Given the description of an element on the screen output the (x, y) to click on. 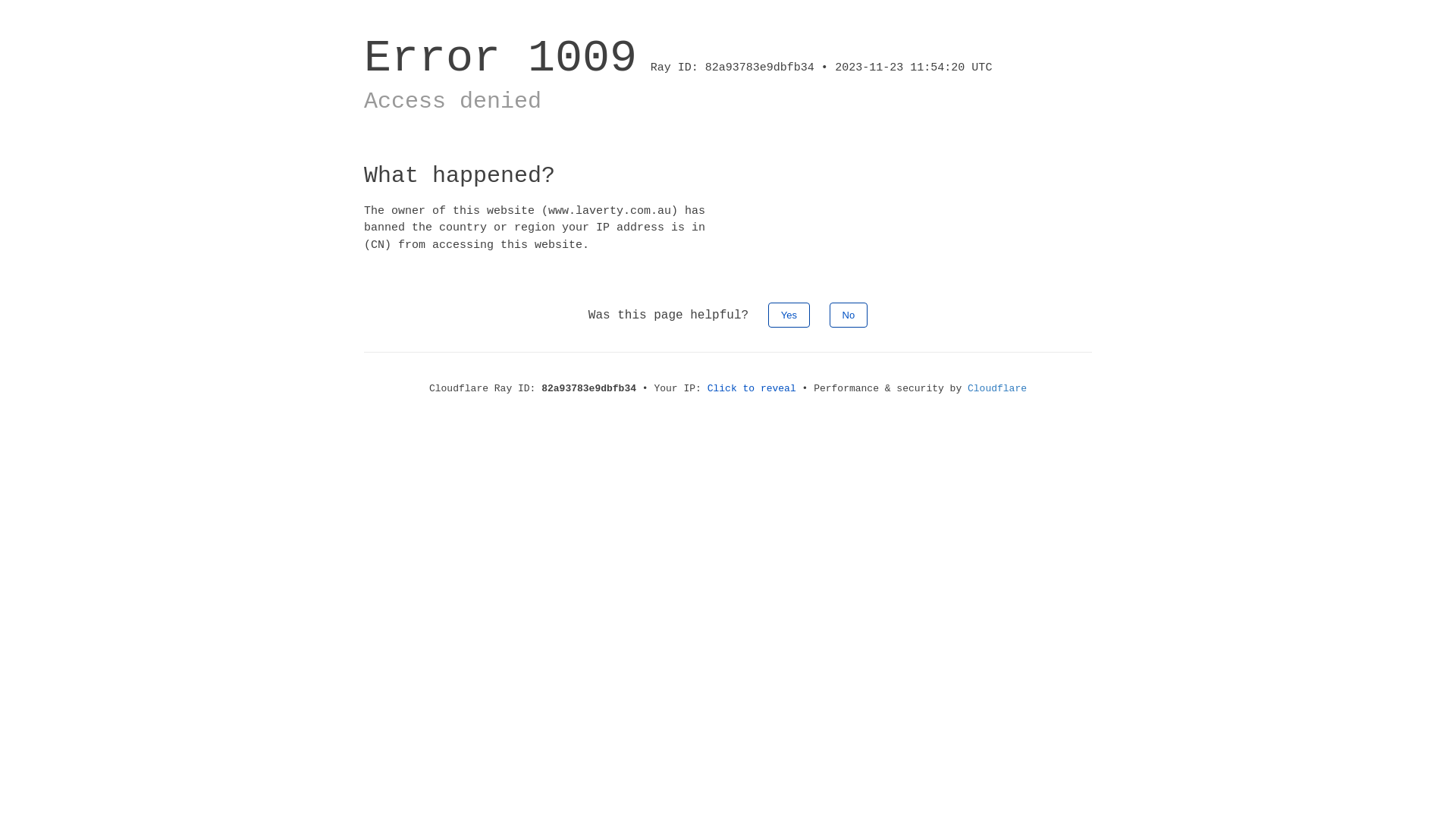
Click to reveal Element type: text (751, 388)
Cloudflare Element type: text (996, 388)
Yes Element type: text (788, 314)
No Element type: text (848, 314)
